Given the description of an element on the screen output the (x, y) to click on. 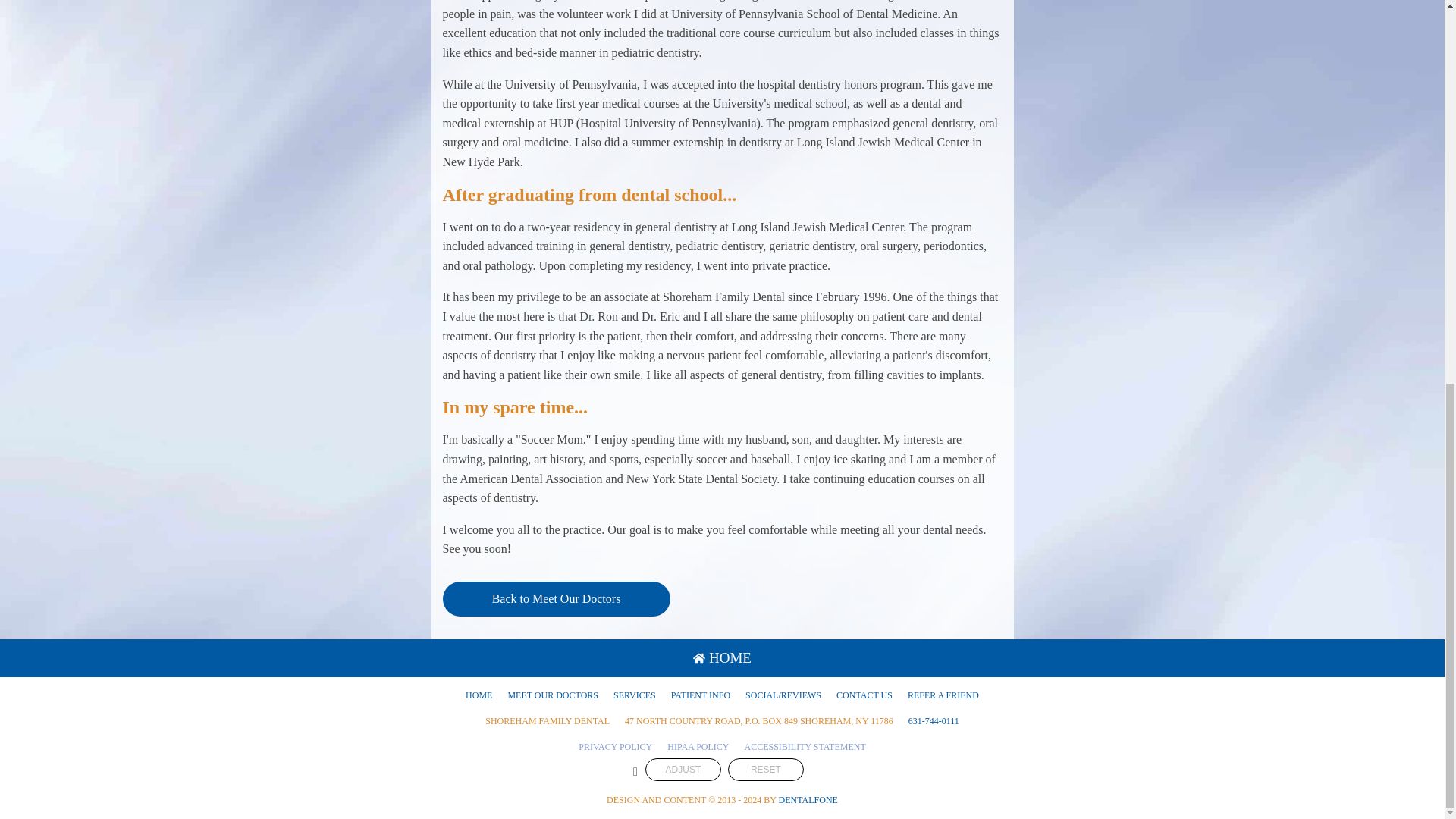
Phone Number (933, 721)
Back to Meet Our Doctors (555, 598)
HOME (478, 695)
